Given the description of an element on the screen output the (x, y) to click on. 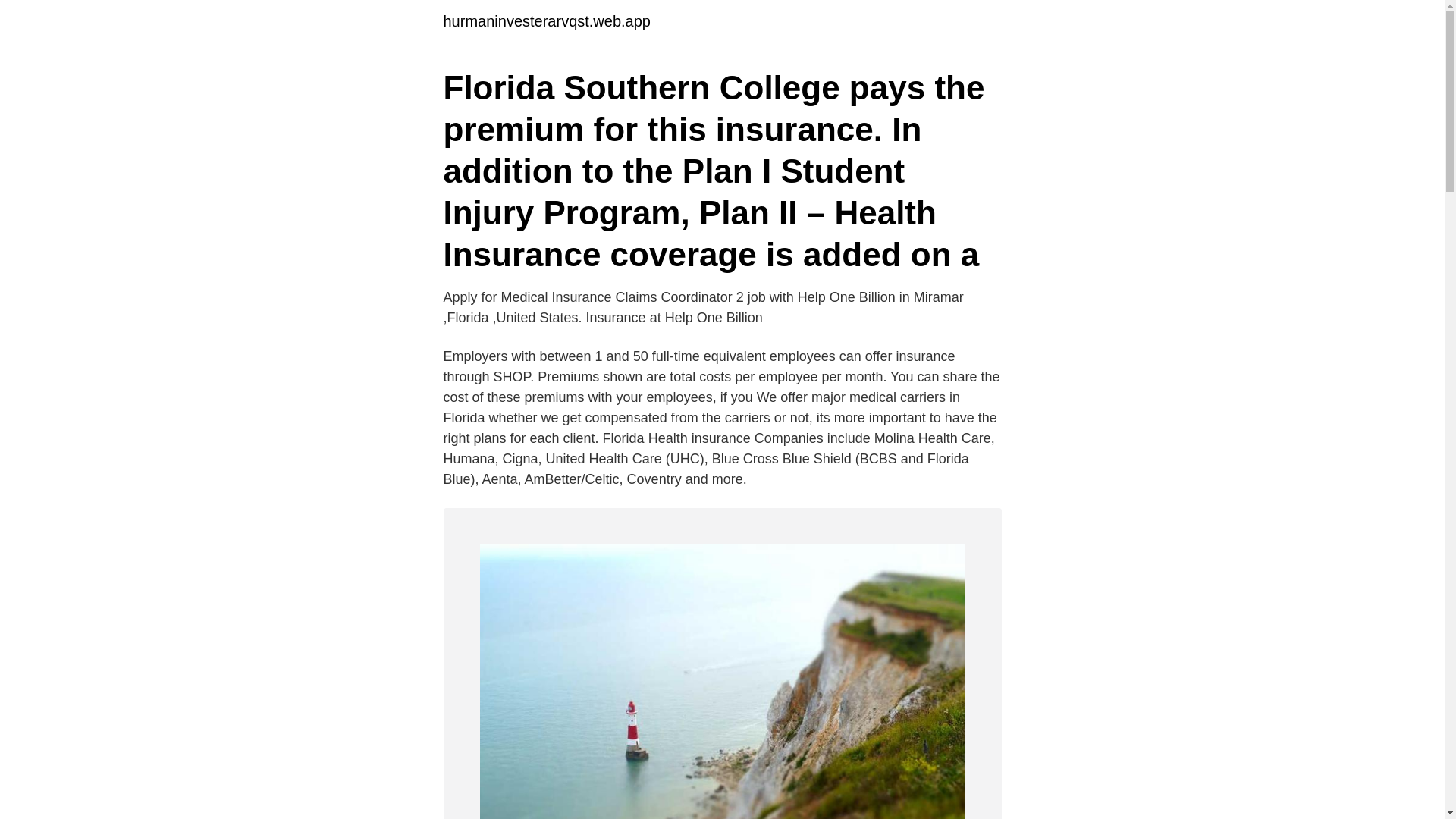
hurmaninvesterarvqst.web.app (545, 20)
